Given the description of an element on the screen output the (x, y) to click on. 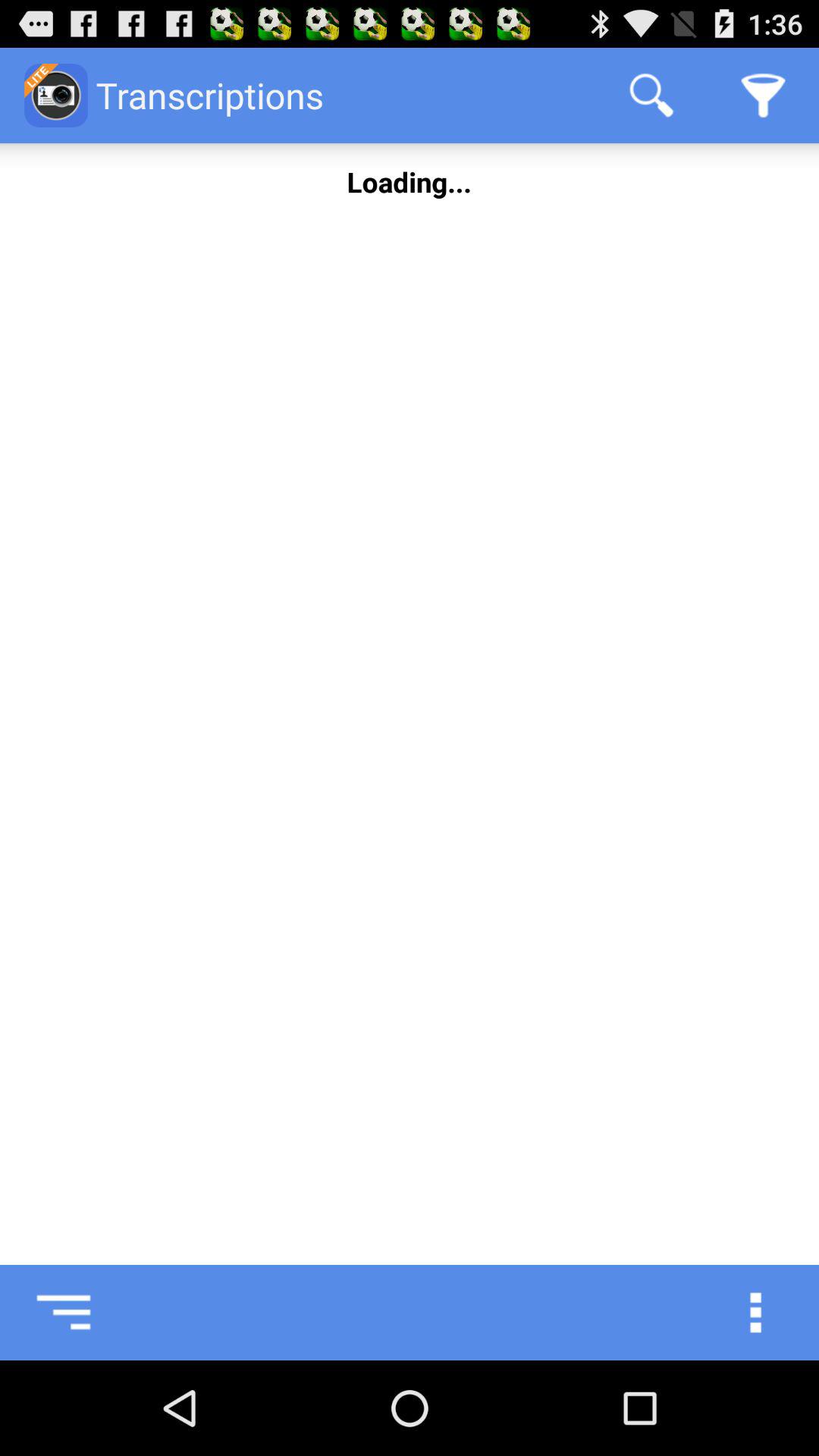
select icon at the bottom right corner (771, 1312)
